Given the description of an element on the screen output the (x, y) to click on. 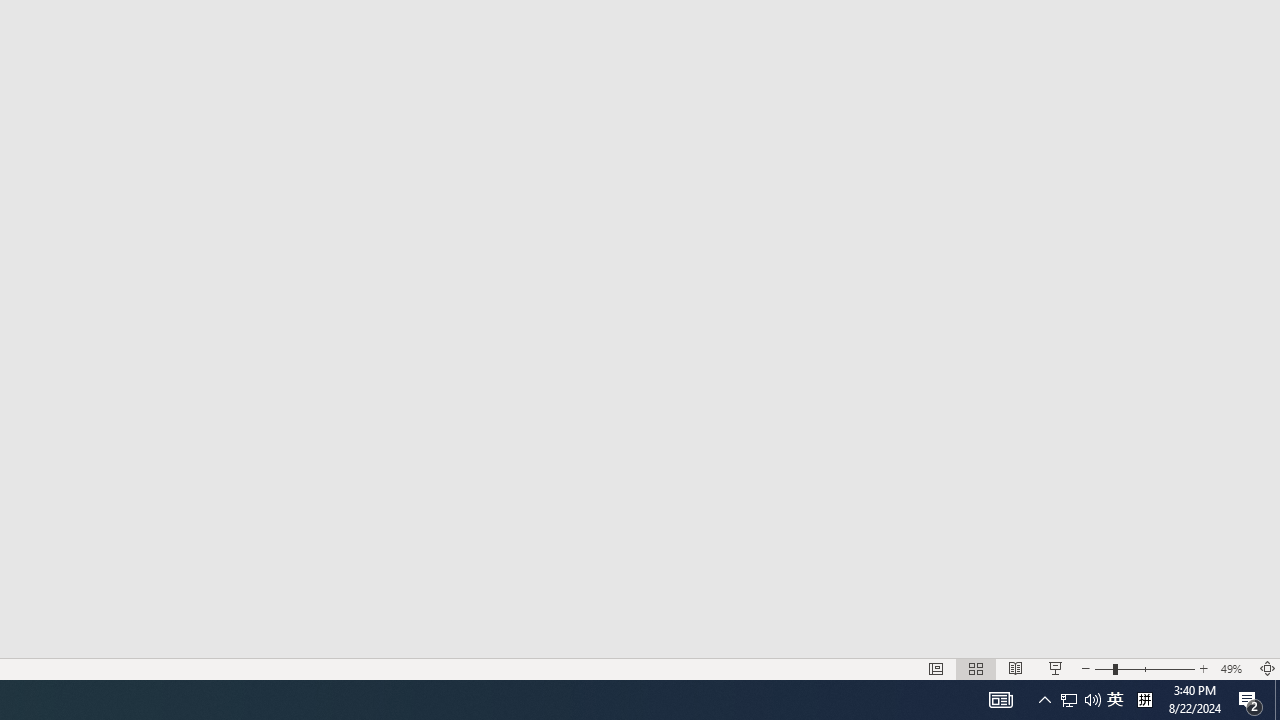
Zoom 49% (1234, 668)
